Given the description of an element on the screen output the (x, y) to click on. 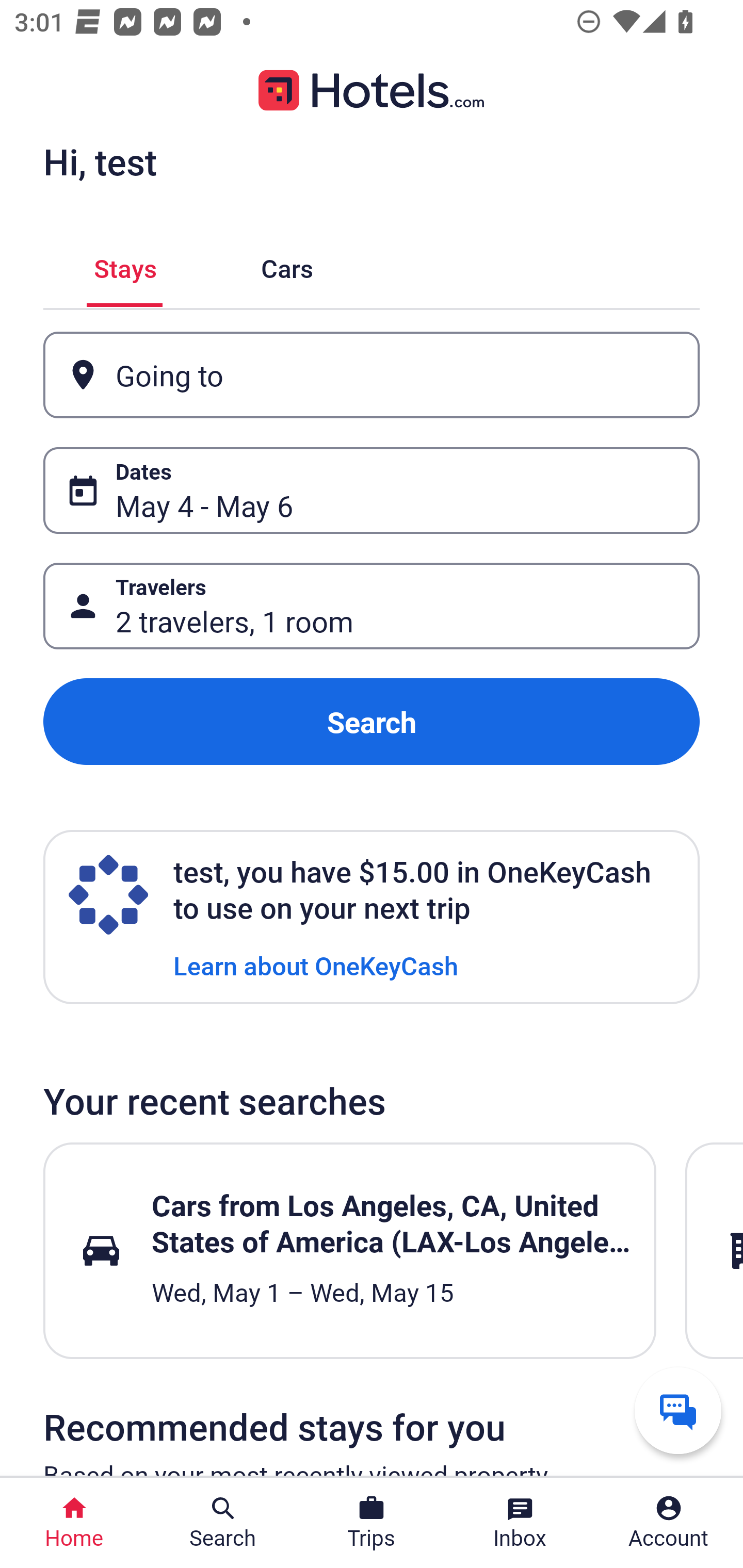
Hi, test (99, 161)
Cars (286, 265)
Going to Button (371, 375)
Dates Button May 4 - May 6 (371, 489)
Travelers Button 2 travelers, 1 room (371, 605)
Search (371, 721)
Learn about OneKeyCash Learn about OneKeyCash Link (315, 964)
Get help from a virtual agent (677, 1410)
Search Search Button (222, 1522)
Trips Trips Button (371, 1522)
Inbox Inbox Button (519, 1522)
Account Profile. Button (668, 1522)
